Given the description of an element on the screen output the (x, y) to click on. 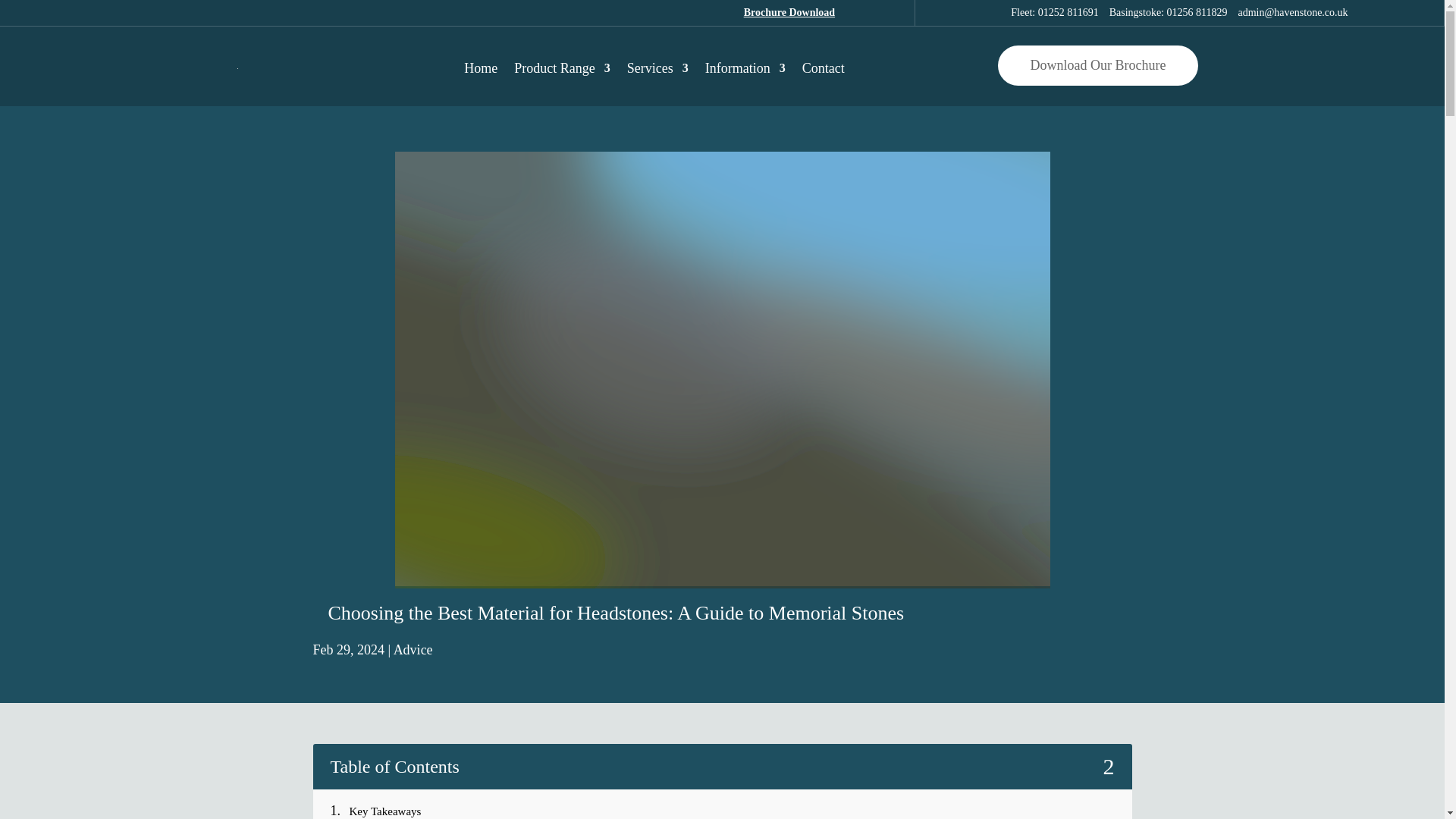
Product Range (561, 68)
Services (657, 68)
Basingstoke: 01256 811829 (1168, 12)
Download Our Brochure (1097, 65)
Brochure Download (789, 12)
Fleet: 01252 811691 (1053, 12)
Information (745, 68)
